Given the description of an element on the screen output the (x, y) to click on. 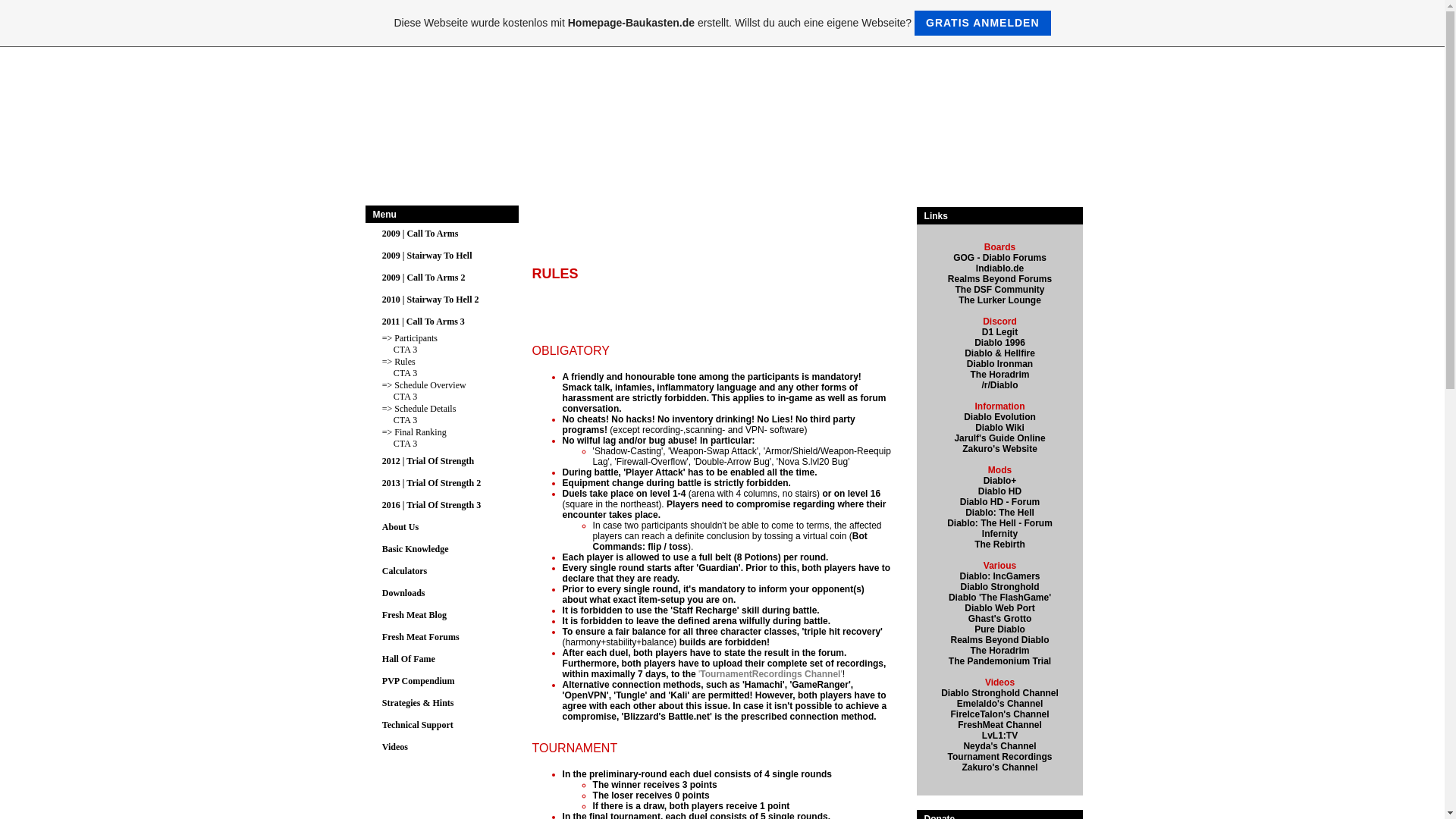
Basic Knowledge (414, 547)
Hall Of Fame (408, 658)
The Horadrim (999, 374)
Diablo Evolution (999, 416)
Indiablo.de (1010, 273)
Technical Support (416, 724)
PVP Compendium (417, 679)
About Us (400, 526)
The Lurker Lounge (999, 299)
Downloads (403, 592)
Fresh Meat Blog (413, 614)
Calculators (403, 570)
GOG - Diablo Forums (999, 257)
The DSF Community (999, 289)
Videos (394, 747)
